Given the description of an element on the screen output the (x, y) to click on. 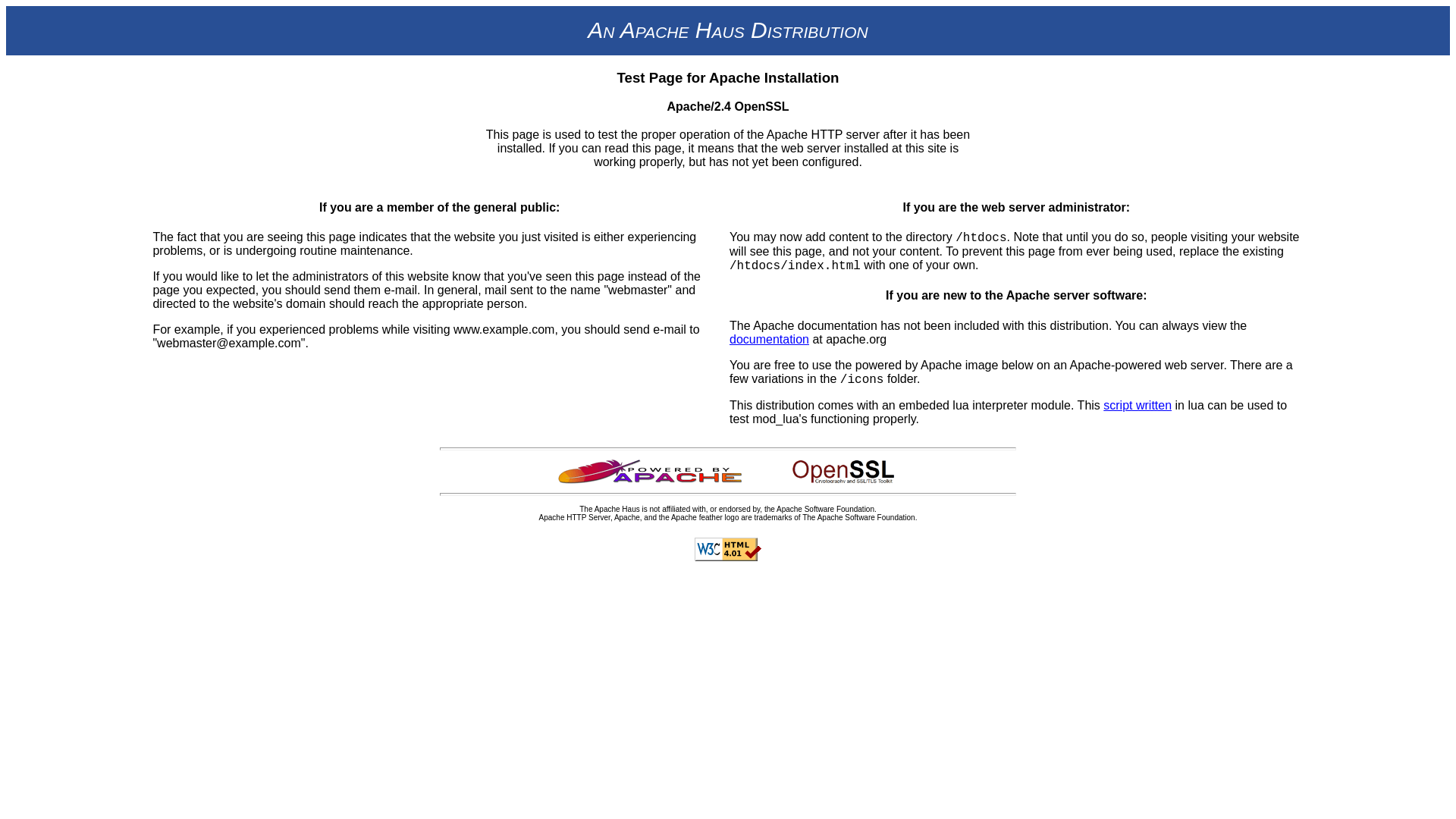
script written Element type: text (1137, 404)
documentation Element type: text (769, 338)
